Given the description of an element on the screen output the (x, y) to click on. 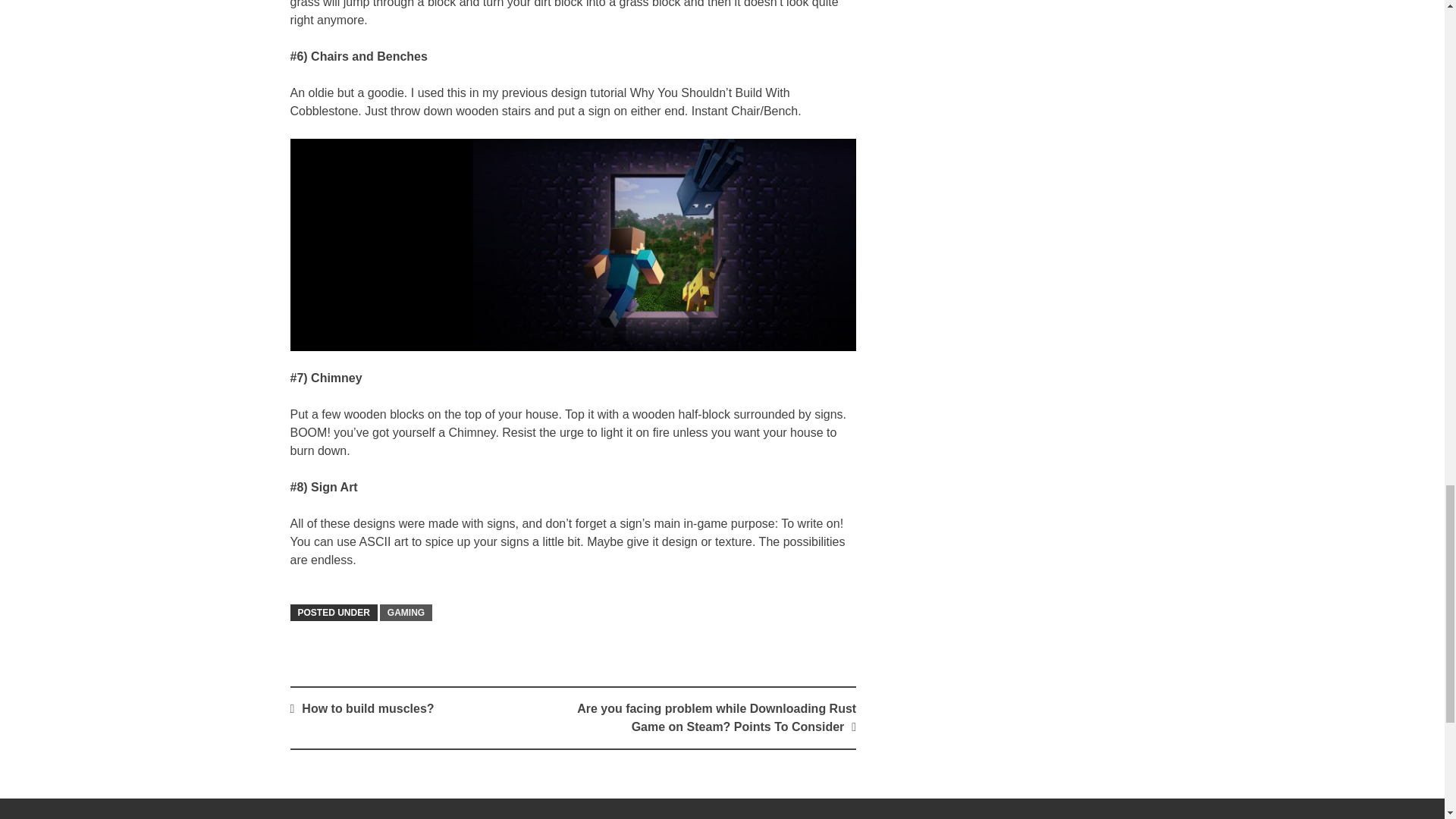
GAMING (406, 612)
How to build muscles? (367, 707)
